Given the description of an element on the screen output the (x, y) to click on. 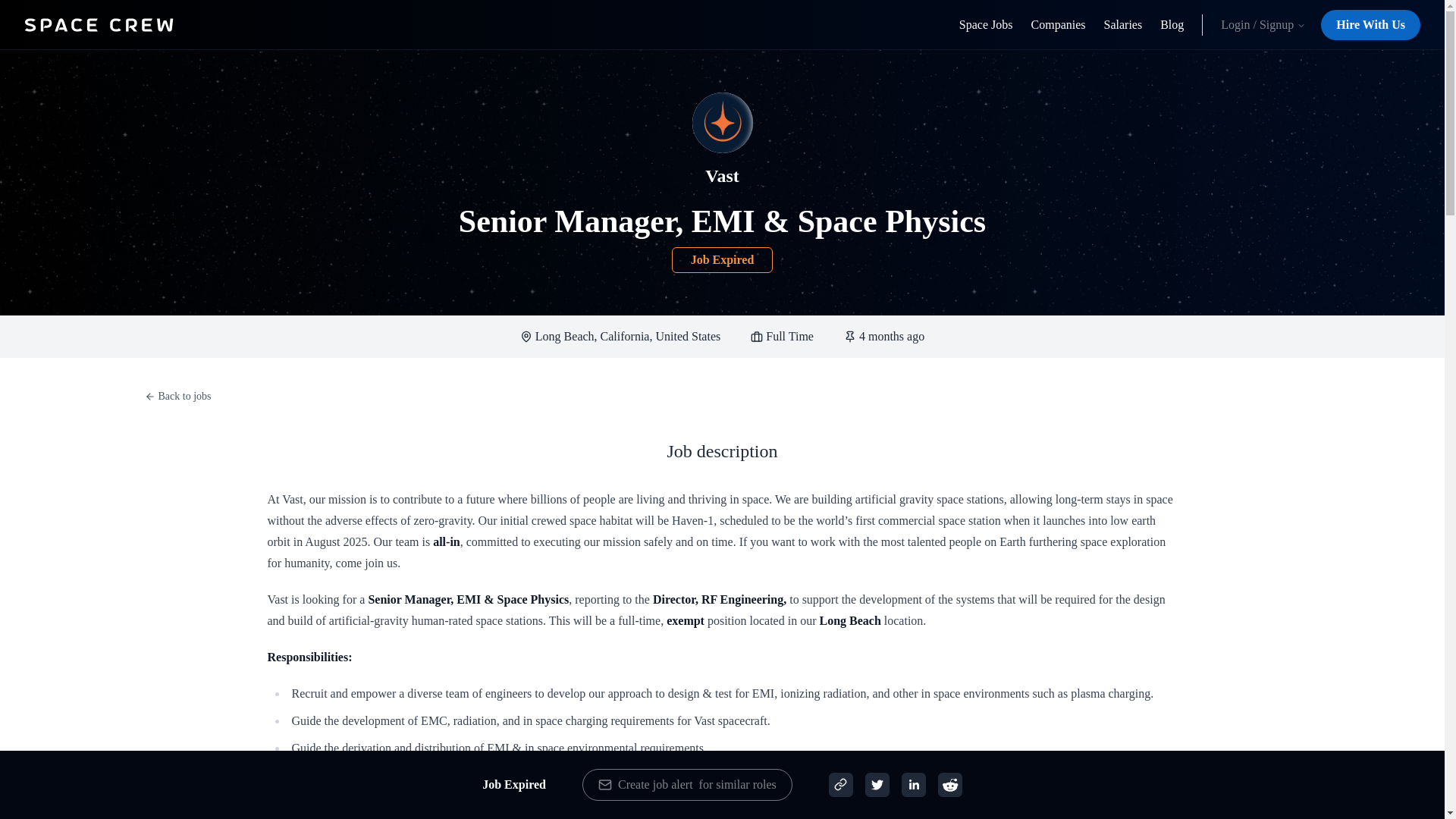
Vast (721, 175)
Space Jobs (986, 24)
Companies (1058, 24)
Back to jobs (177, 396)
Hire With Us (1370, 24)
Salaries (1122, 24)
